Given the description of an element on the screen output the (x, y) to click on. 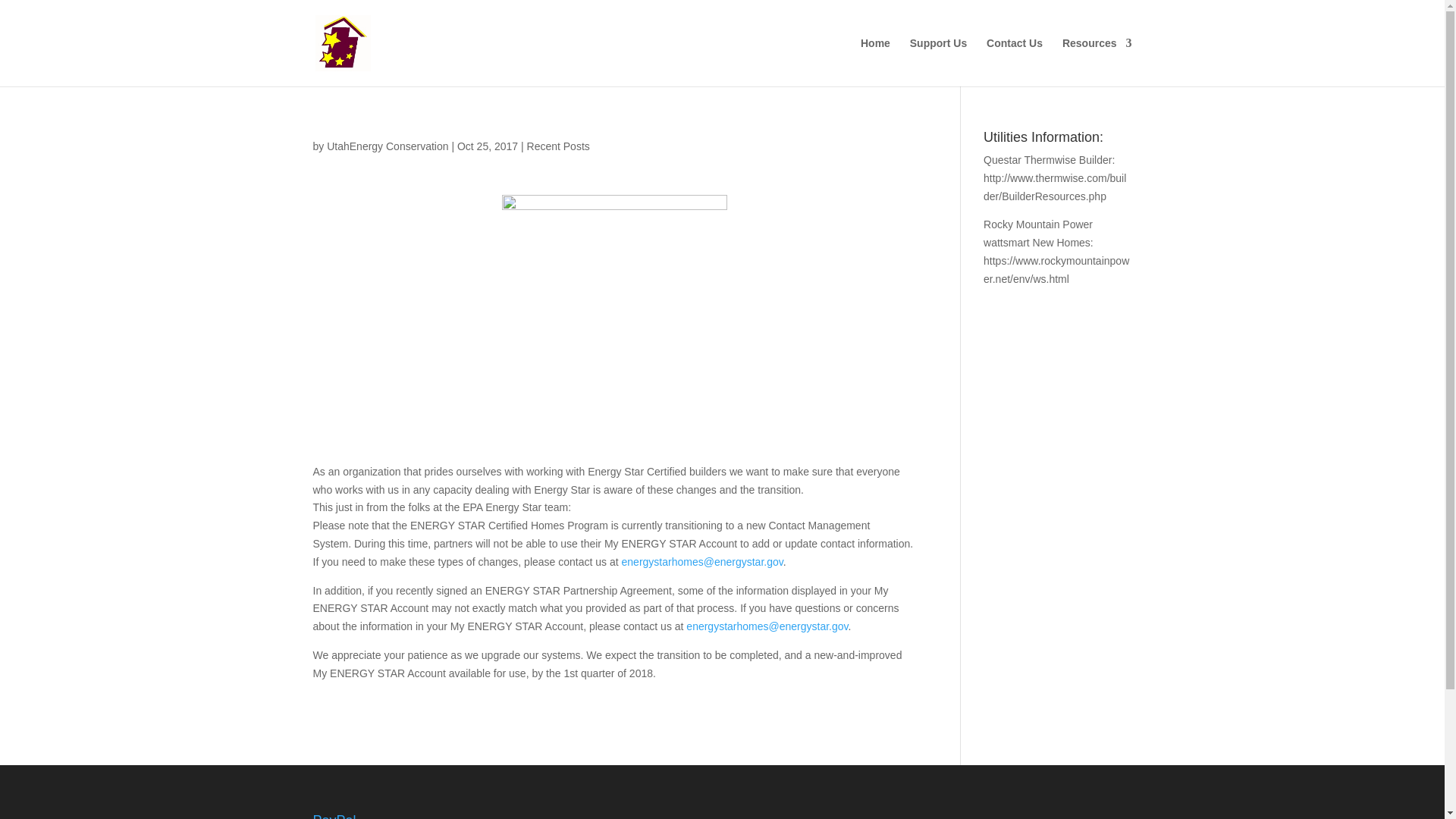
Recent Posts (558, 146)
Posts by UtahEnergy Conservation (387, 146)
Support Us (938, 61)
Resources (1097, 61)
Contact Us (1014, 61)
UtahEnergy Conservation (387, 146)
